Given the description of an element on the screen output the (x, y) to click on. 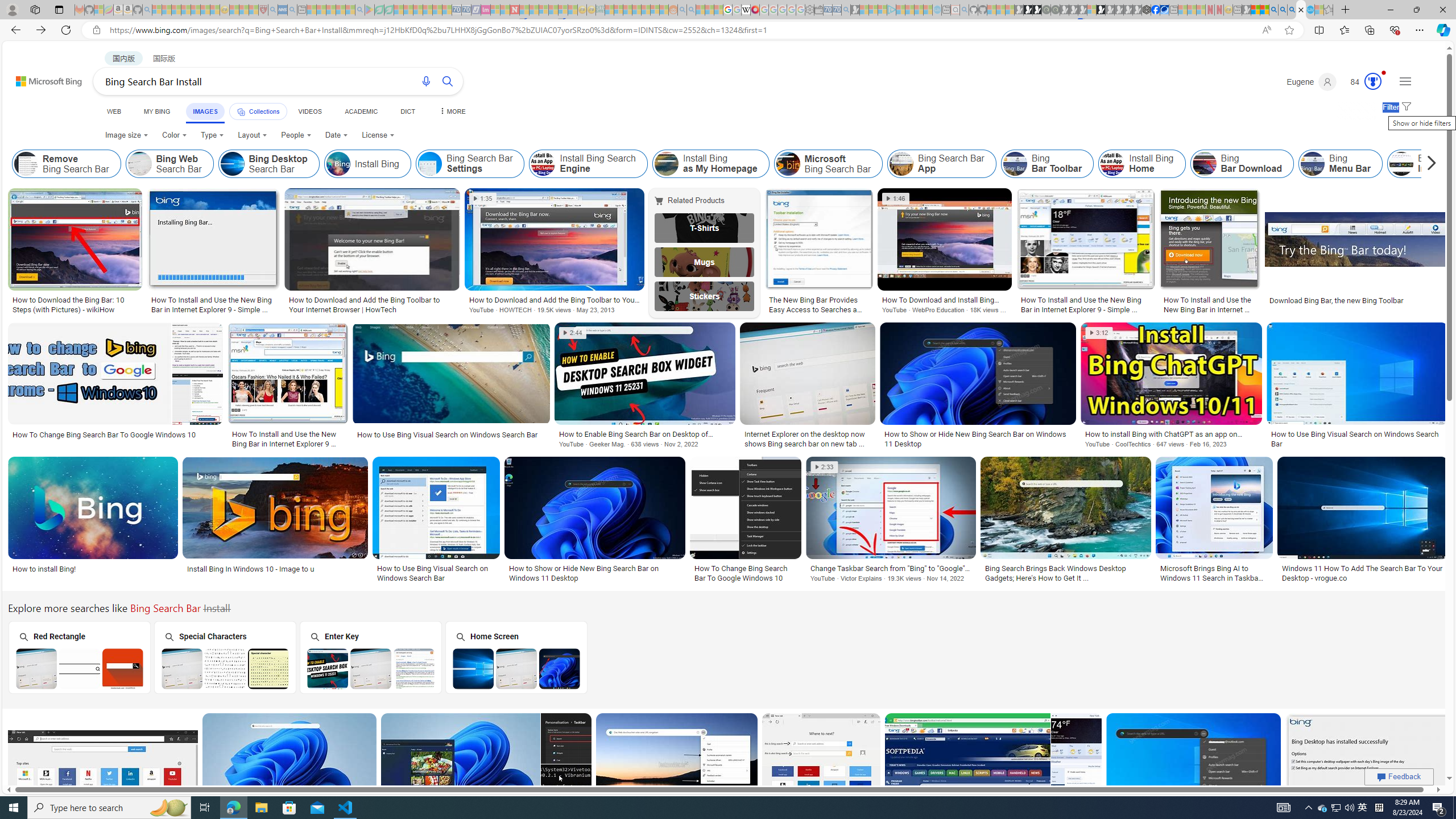
How To Change Bing Search Bar To Google Windows 10 (745, 573)
WEB (114, 111)
Install Bing In Windows 10 - Image to u (250, 568)
ACADEMIC (360, 111)
Animation (1383, 72)
github - Search - Sleeping (964, 9)
Red Rectangle Bing Search Bar Red Rectangle (78, 656)
